Given the description of an element on the screen output the (x, y) to click on. 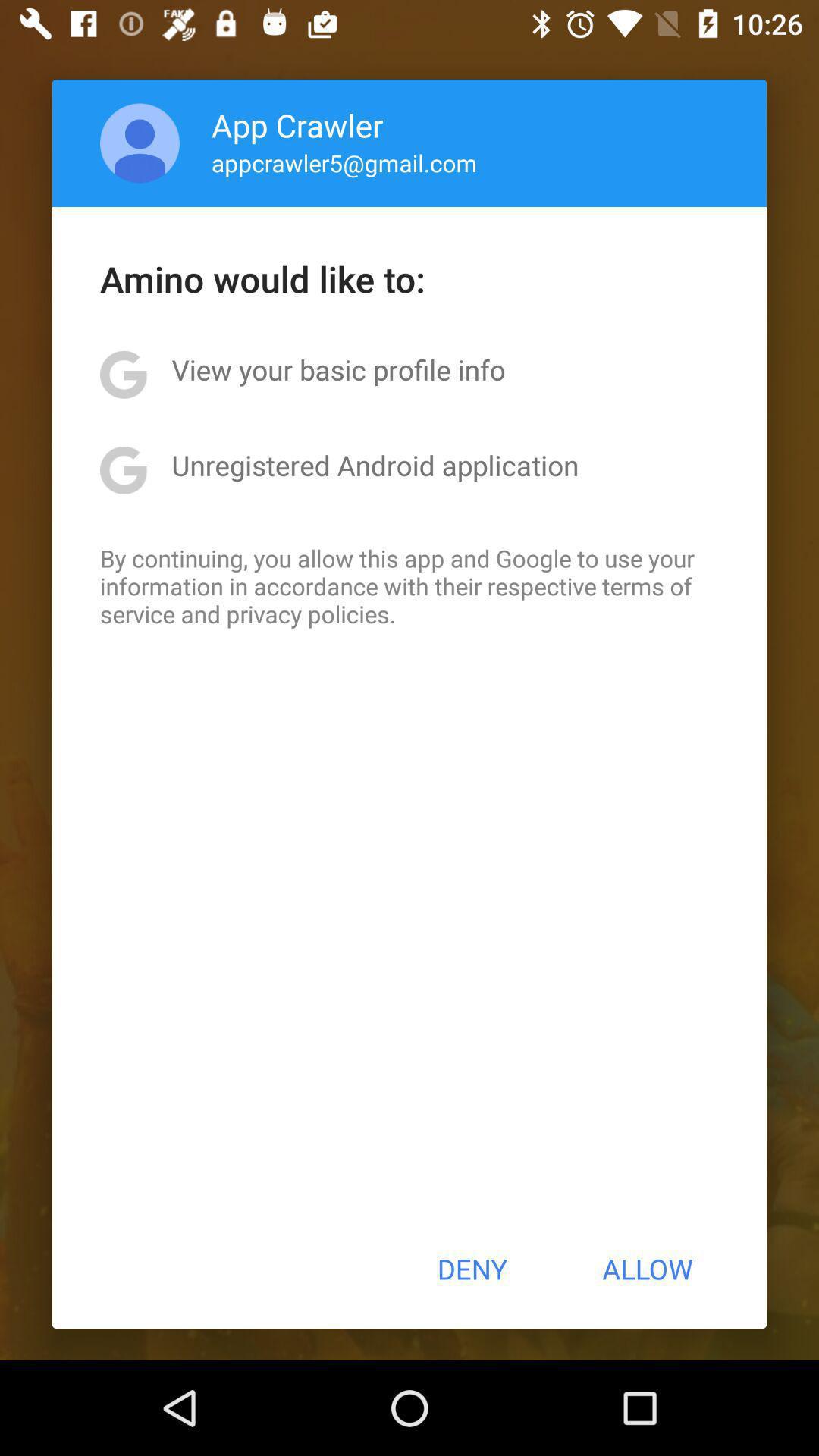
tap the app crawler icon (297, 124)
